Given the description of an element on the screen output the (x, y) to click on. 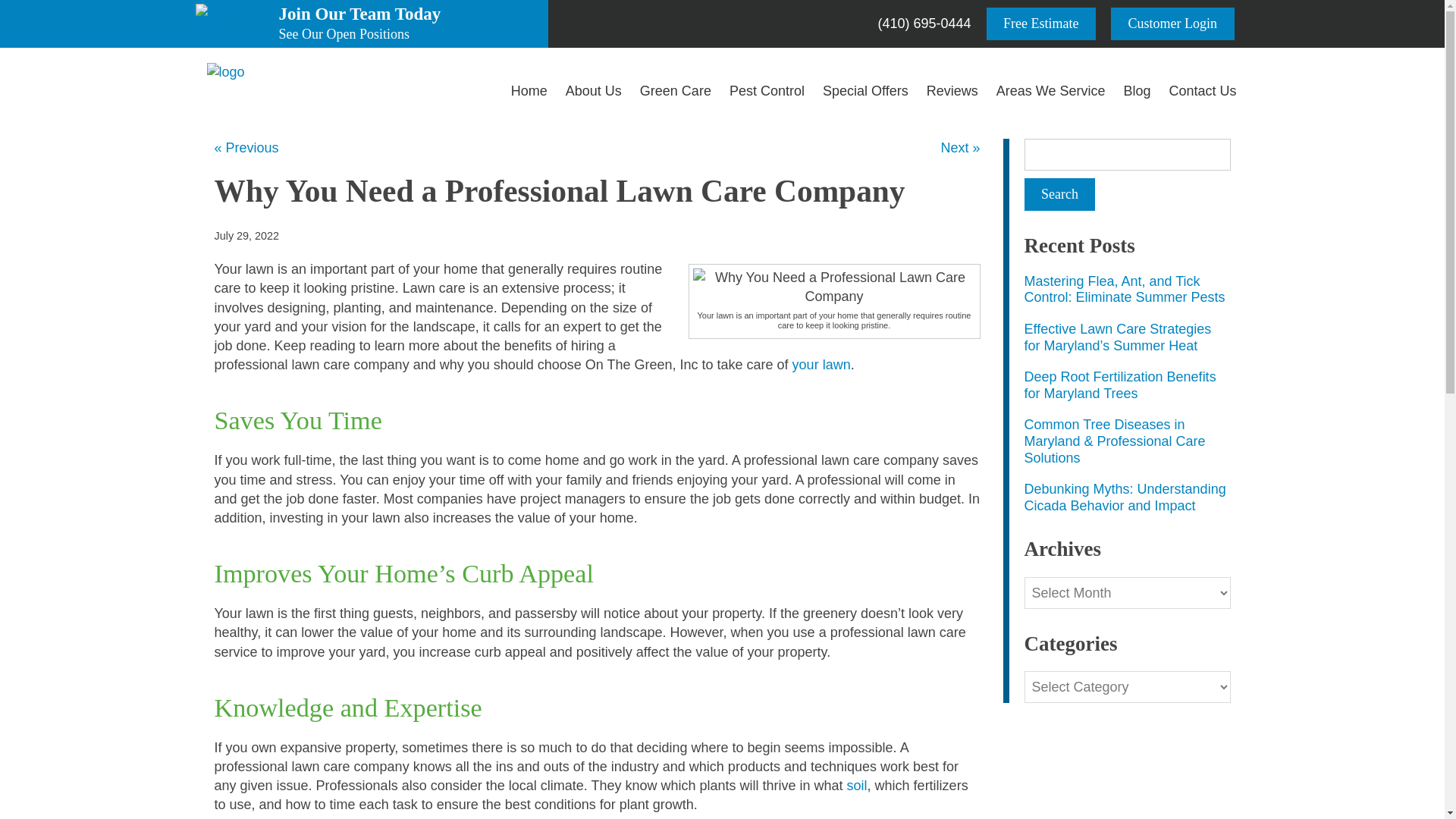
Green Care (409, 24)
Free Estimate (675, 90)
Special Offers (1041, 23)
On The Green, Inc. (865, 90)
About Us (225, 72)
Customer Login (593, 90)
Home (1172, 23)
Reviews (529, 90)
Blog (952, 90)
Pest Control (1135, 90)
Search (766, 90)
Areas We Service (1058, 194)
